Given the description of an element on the screen output the (x, y) to click on. 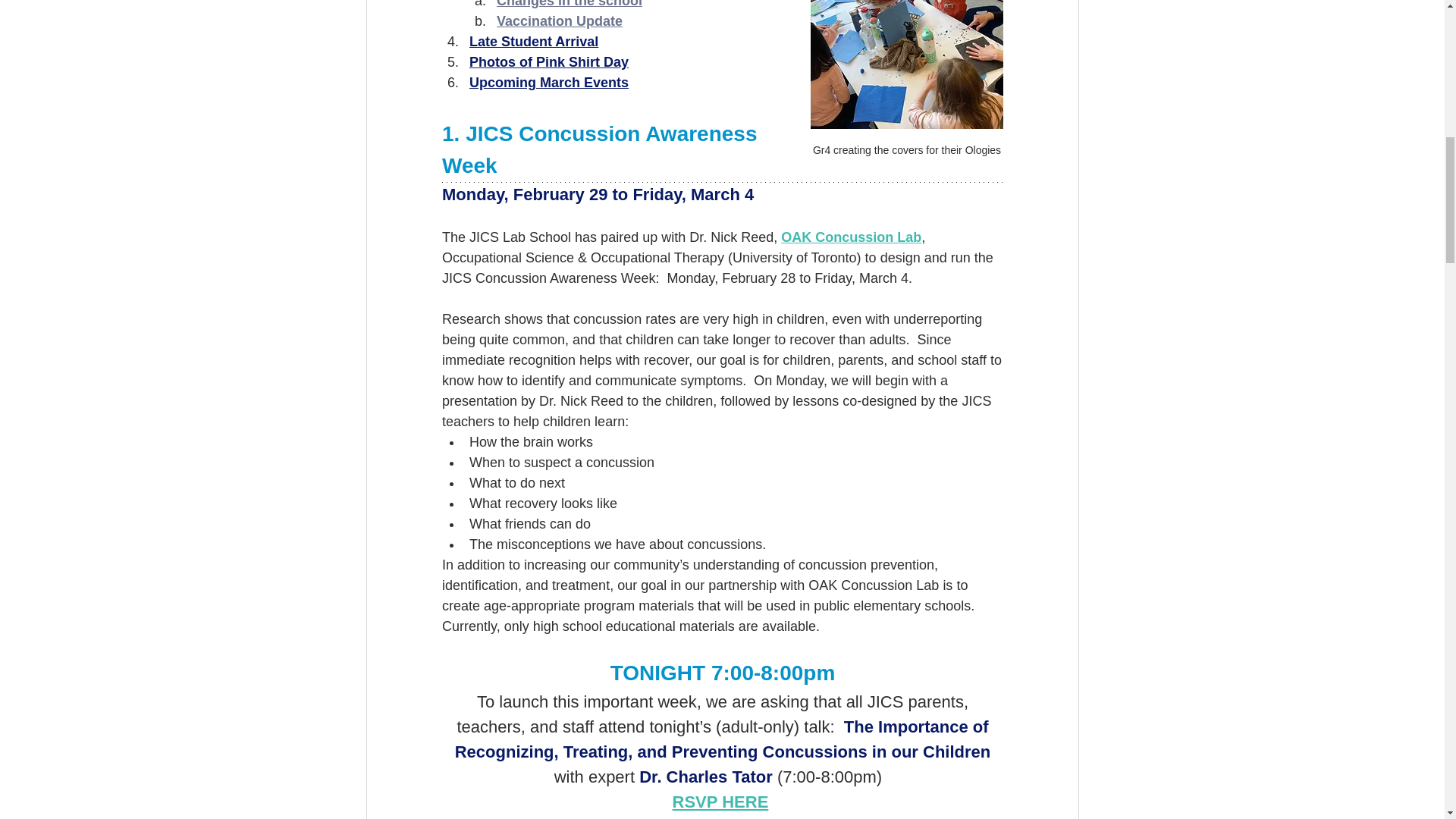
Upcoming March Events (547, 82)
OAK Concussion Lab (850, 237)
